Given the description of an element on the screen output the (x, y) to click on. 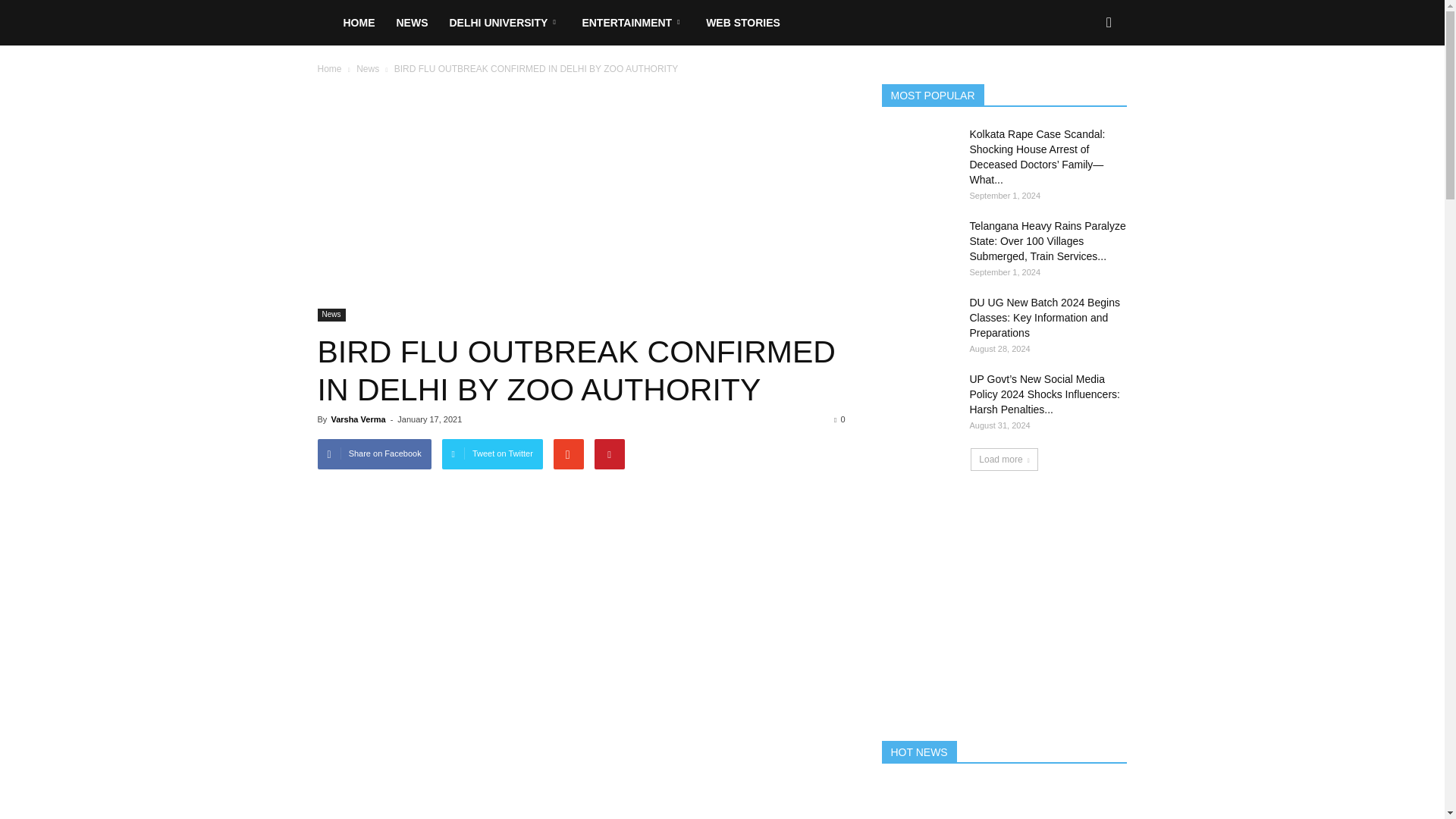
NEWS (411, 22)
DELHI UNIVERSITY (504, 22)
ENTERTAINMENT (632, 22)
HOME (358, 22)
View all posts in News (368, 68)
